Given the description of an element on the screen output the (x, y) to click on. 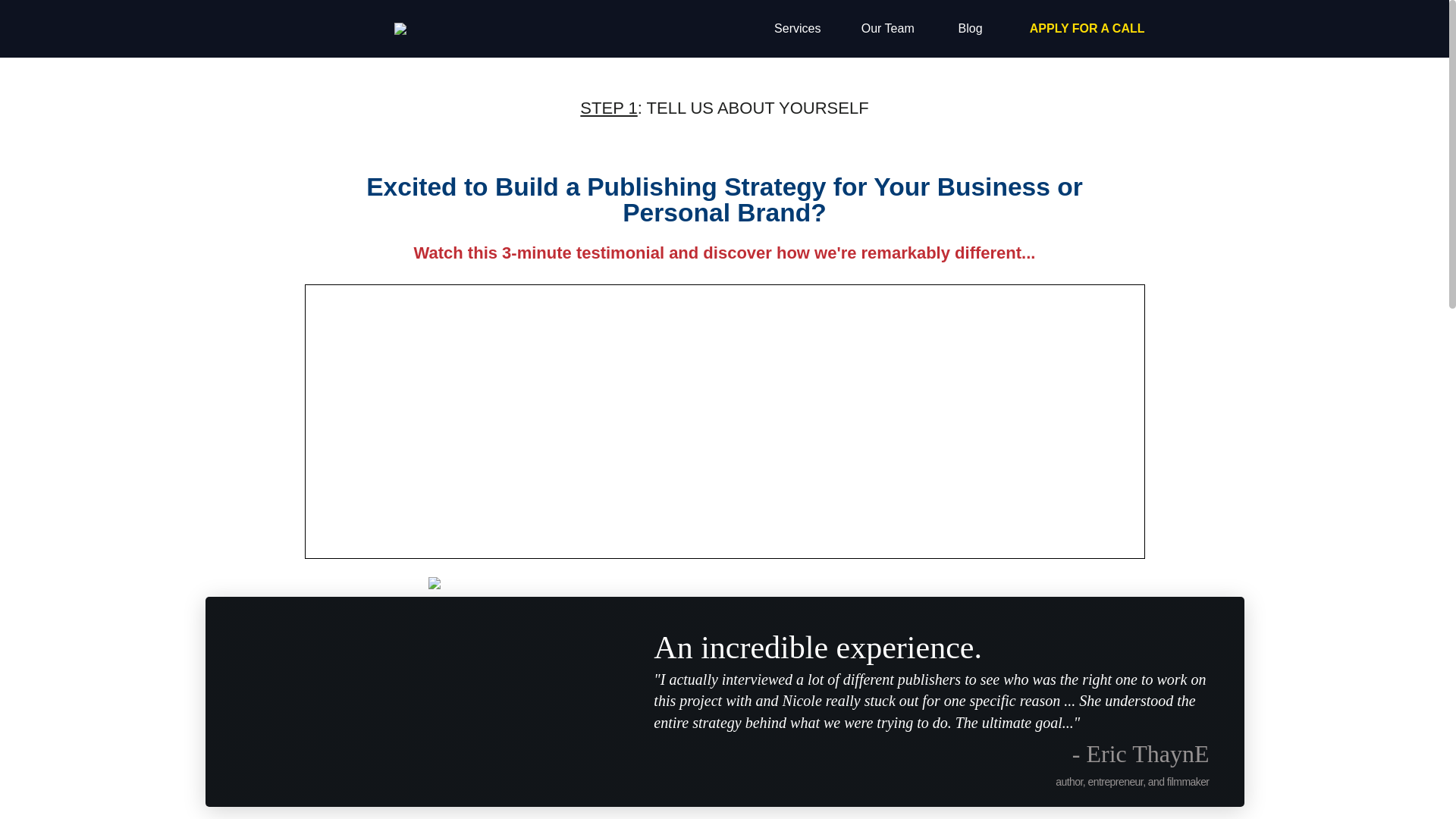
Services (797, 28)
Our Team (887, 28)
APPLY FOR A CALL (1086, 28)
Blog (970, 28)
